Given the description of an element on the screen output the (x, y) to click on. 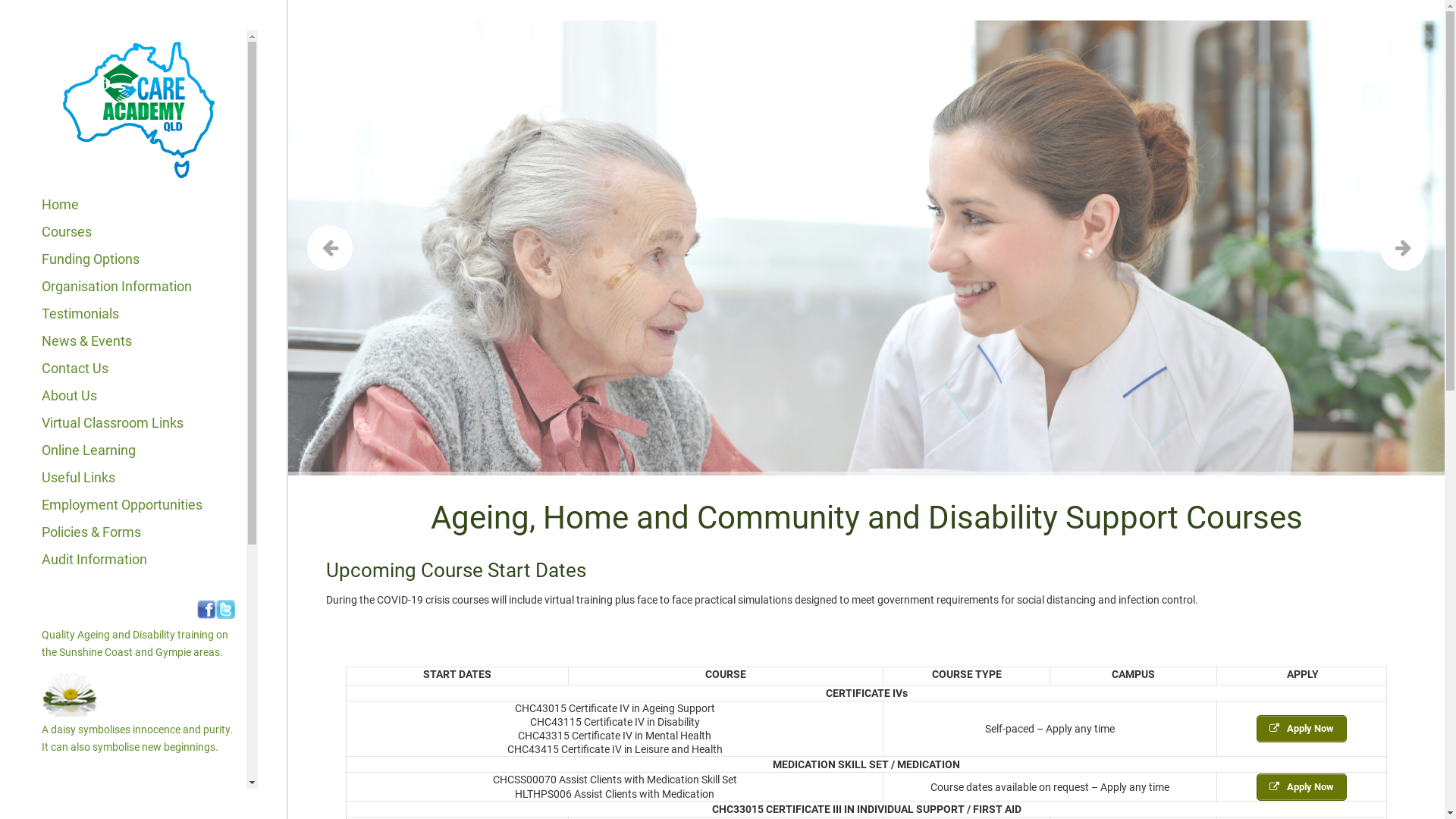
Home Element type: text (59, 204)
Courses Element type: text (66, 231)
Apply Now Element type: text (1301, 786)
Audit Information Element type: text (94, 559)
Virtual Classroom Links Element type: text (112, 422)
About Us Element type: text (69, 395)
Funding Options Element type: text (90, 258)
Care Academy QLD Element type: hover (137, 110)
Organisation Information Element type: text (116, 286)
Useful Links Element type: text (78, 477)
Apply Now Element type: text (1301, 728)
Online Learning Element type: text (88, 450)
Contact Us Element type: text (74, 368)
Testimonials Element type: text (80, 313)
Employment Opportunities Element type: text (121, 504)
Policies & Forms Element type: text (91, 531)
News & Events Element type: text (86, 340)
